Given the description of an element on the screen output the (x, y) to click on. 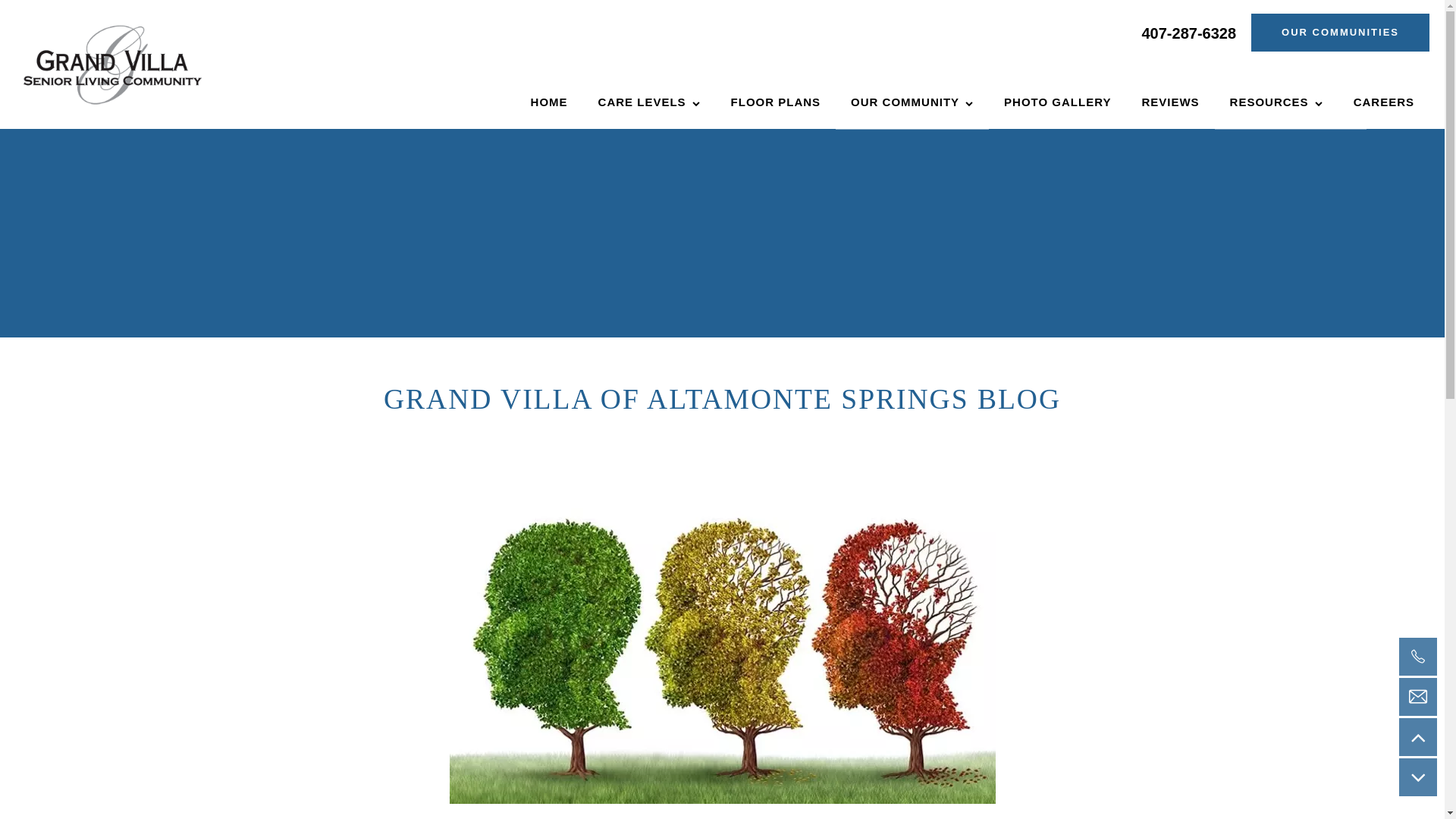
Scroll Up (1418, 736)
RESPITE CARE (659, 105)
RESOURCES (1276, 102)
CAREERS (1383, 102)
407-287-6328 (1188, 31)
OUR COMMUNITY (911, 102)
HOME (549, 102)
DINING (911, 105)
Phone Number (1418, 656)
CARE LEVELS (649, 102)
